Given the description of an element on the screen output the (x, y) to click on. 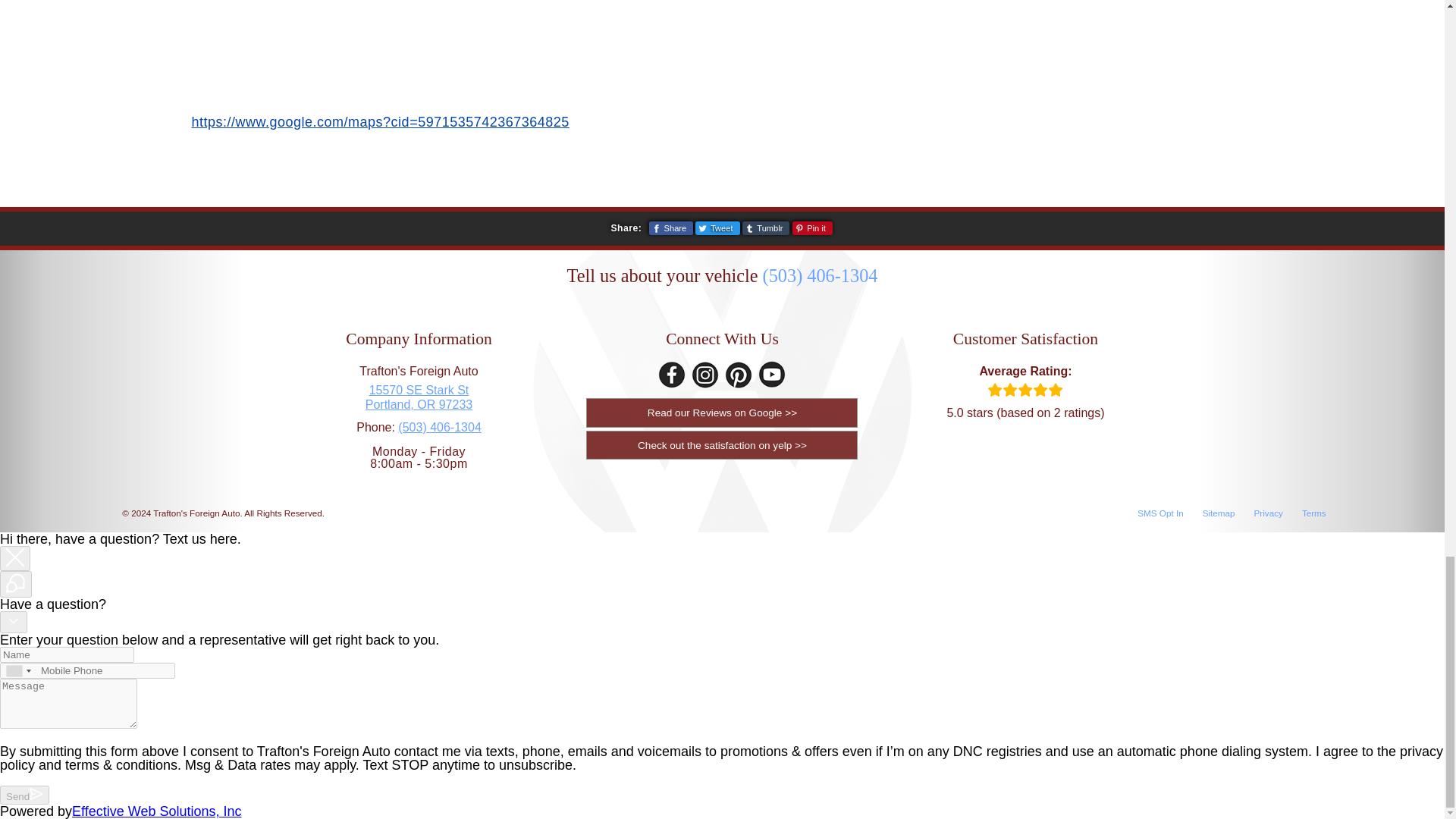
Pinterest (738, 375)
Facebook (671, 375)
Tumblr (766, 228)
Tweet (717, 228)
Google Reviews (721, 412)
Pin it (812, 228)
Share (671, 228)
Instagram (705, 375)
Yelp Reviews (418, 397)
YouTube (721, 444)
